Given the description of an element on the screen output the (x, y) to click on. 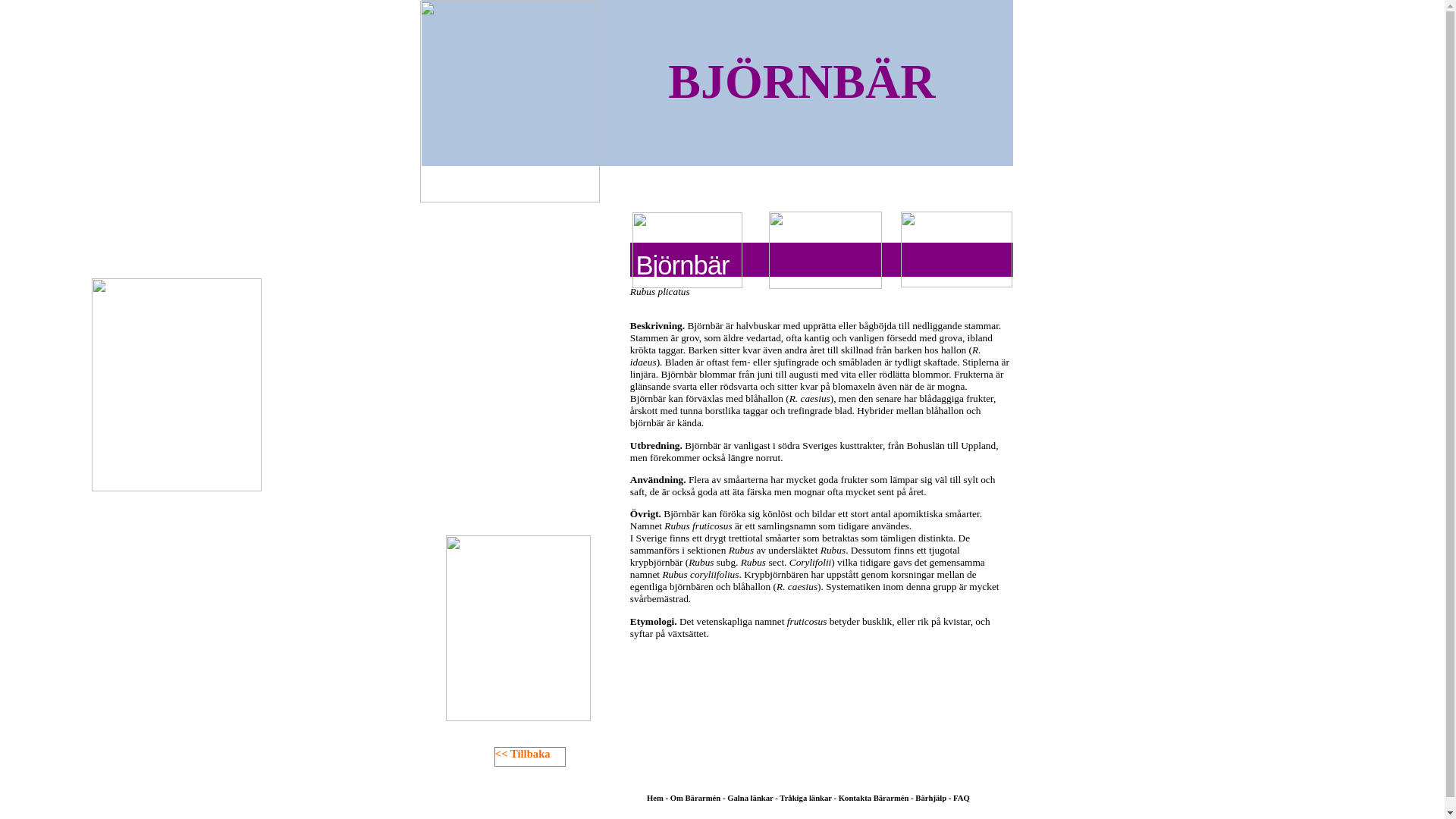
hallon Element type: text (953, 349)
Hem  Element type: text (655, 797)
<< Tillbaka Element type: text (522, 753)
